Given the description of an element on the screen output the (x, y) to click on. 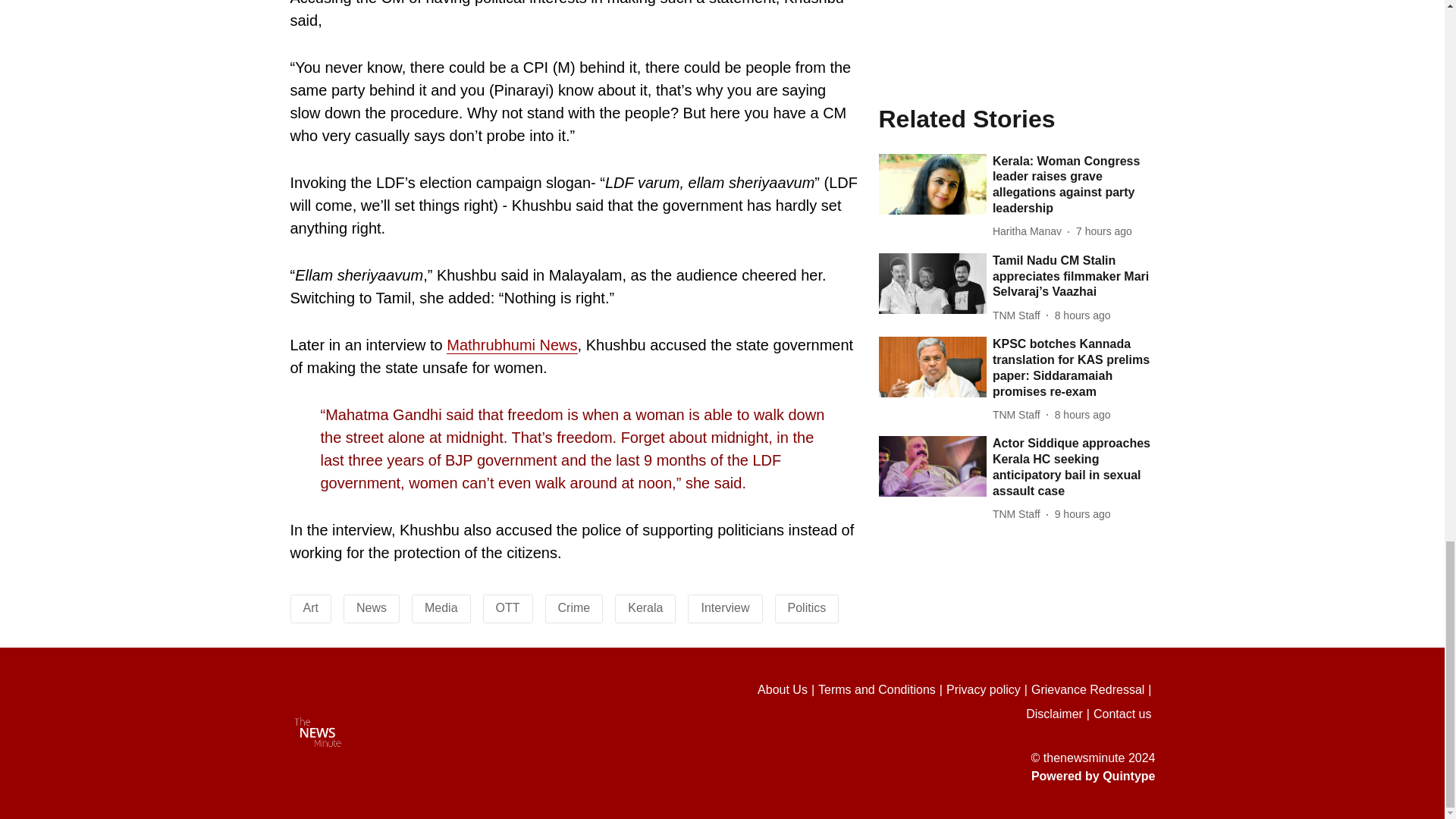
Crime (574, 607)
Politics (806, 607)
Mathrubhumi News (511, 344)
OTT (507, 607)
Interview (724, 607)
Media (441, 607)
News (371, 607)
Kerala (644, 607)
Art (310, 607)
